Given the description of an element on the screen output the (x, y) to click on. 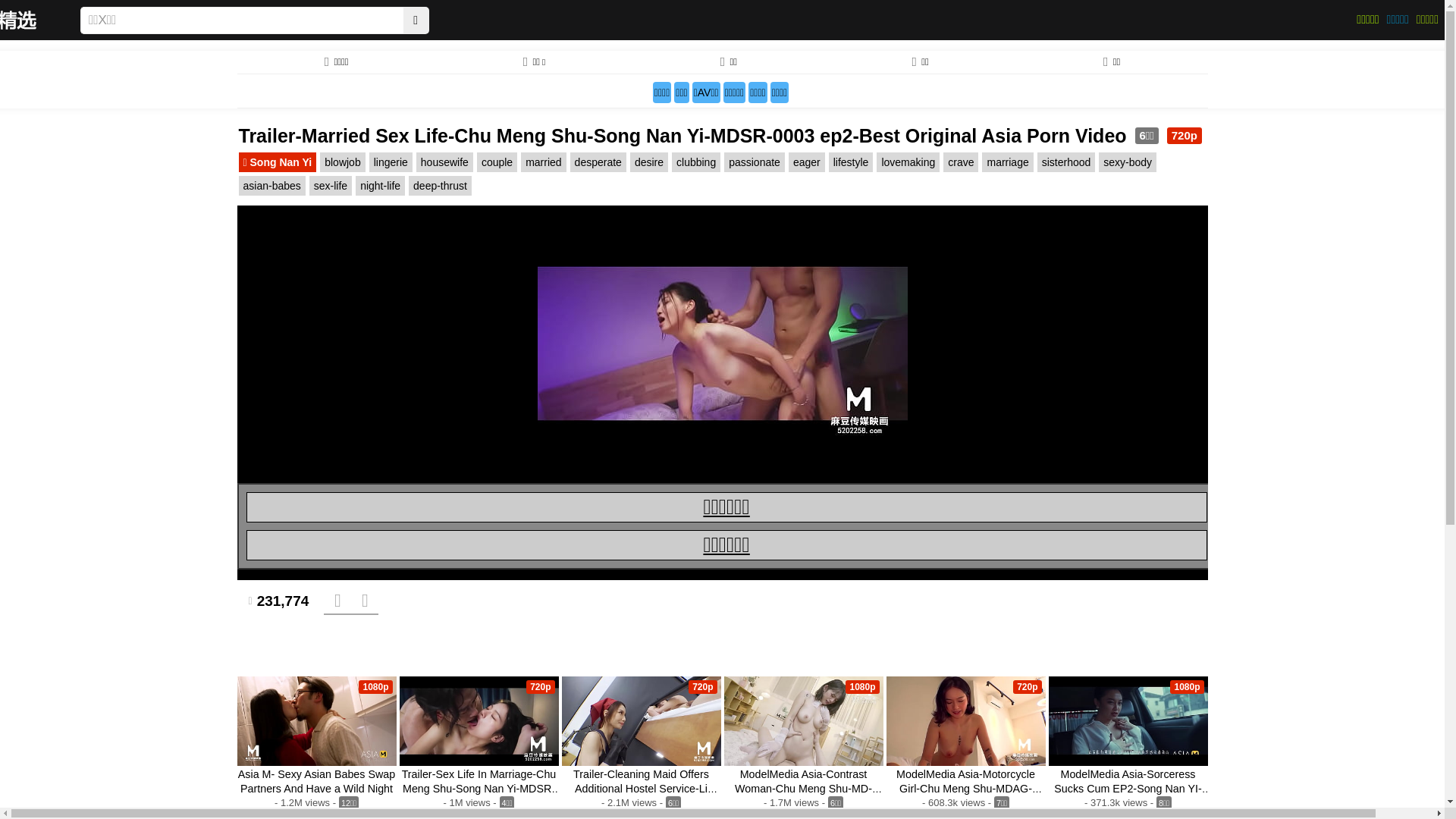
deep-thrust Element type: text (439, 185)
crave Element type: text (960, 162)
1080p Element type: text (315, 720)
1080p Element type: text (1127, 720)
lifestyle Element type: text (850, 162)
720p Element type: text (964, 720)
desperate Element type: text (598, 162)
clubbing Element type: text (695, 162)
night-life Element type: text (379, 185)
blowjob Element type: text (342, 162)
Song Nan Yi Element type: text (277, 162)
asian-babes Element type: text (271, 185)
desire Element type: text (649, 162)
eager Element type: text (806, 162)
lingerie Element type: text (390, 162)
marriage Element type: text (1007, 162)
housewife Element type: text (444, 162)
sexy-body Element type: text (1127, 162)
Asia M- Sexy Asian Babes Swap Partners And Have a Wild Night Element type: text (316, 781)
passionate Element type: text (754, 162)
720p Element type: text (640, 720)
sex-life Element type: text (330, 185)
1080p Element type: text (802, 720)
sisterhood Element type: text (1066, 162)
married Element type: text (542, 162)
couple Element type: text (496, 162)
lovemaking Element type: text (907, 162)
720p Element type: text (478, 720)
